Given the description of an element on the screen output the (x, y) to click on. 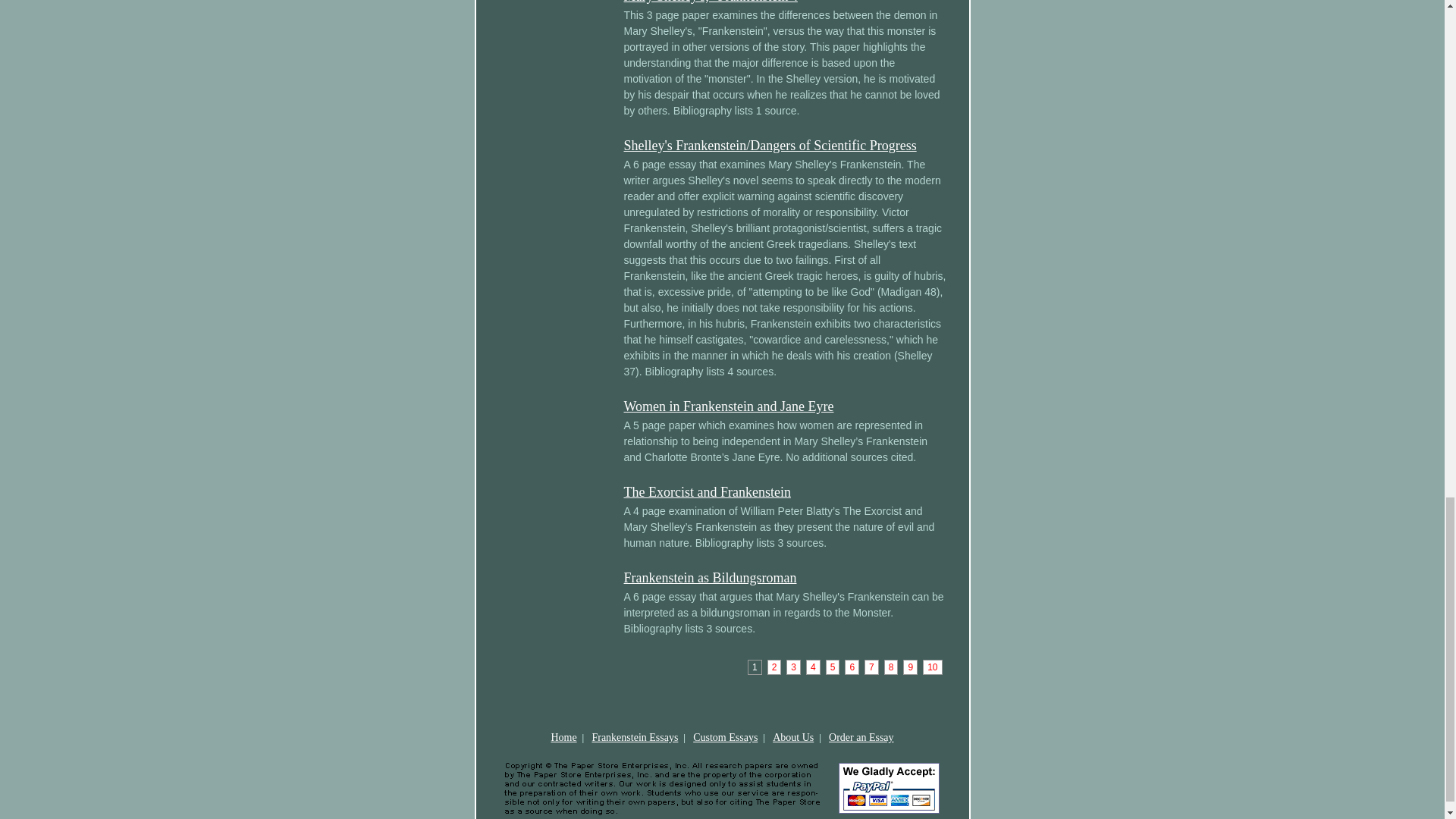
The Exorcist and Frankenstein (706, 491)
Page 2 (774, 667)
5 (832, 667)
8 (890, 667)
Page 3 (793, 667)
Frankenstein as Bildungsroman (709, 577)
6 (851, 667)
Women in Frankenstein and Jane Eyre (727, 406)
Page 4 (813, 667)
3 (793, 667)
4 (813, 667)
1 (754, 667)
2 (774, 667)
7 (871, 667)
Mary Shelley's, "Frankenstein": (709, 2)
